Given the description of an element on the screen output the (x, y) to click on. 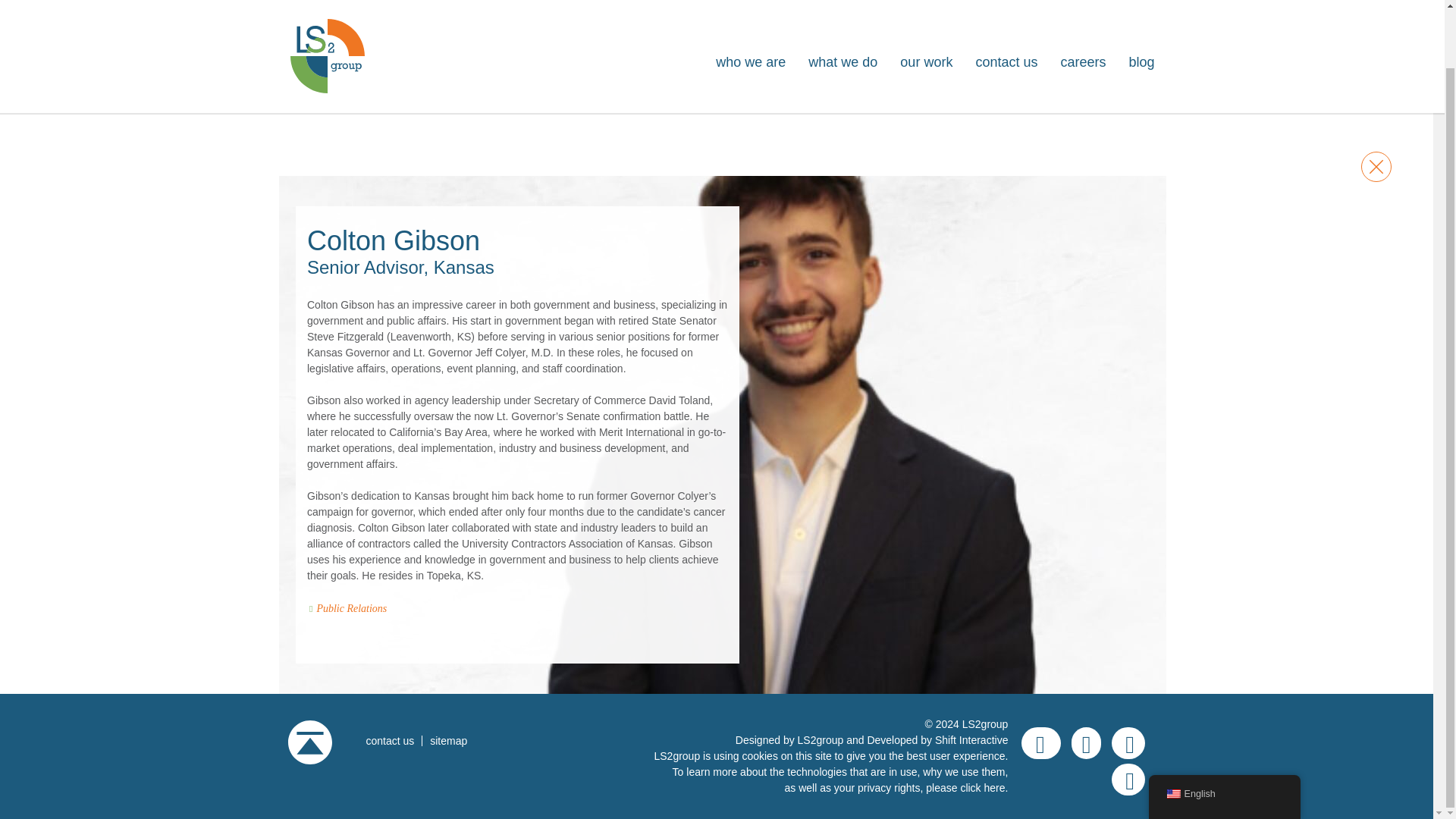
Developed by Shift Interactive (936, 739)
contact us (1005, 4)
our work (925, 4)
here. (996, 787)
contact us (388, 740)
who we are (751, 4)
careers (1082, 4)
Public Relations (351, 608)
what we do (842, 4)
English (1172, 730)
sitemap (446, 740)
blog (1141, 4)
English (1224, 731)
